Given the description of an element on the screen output the (x, y) to click on. 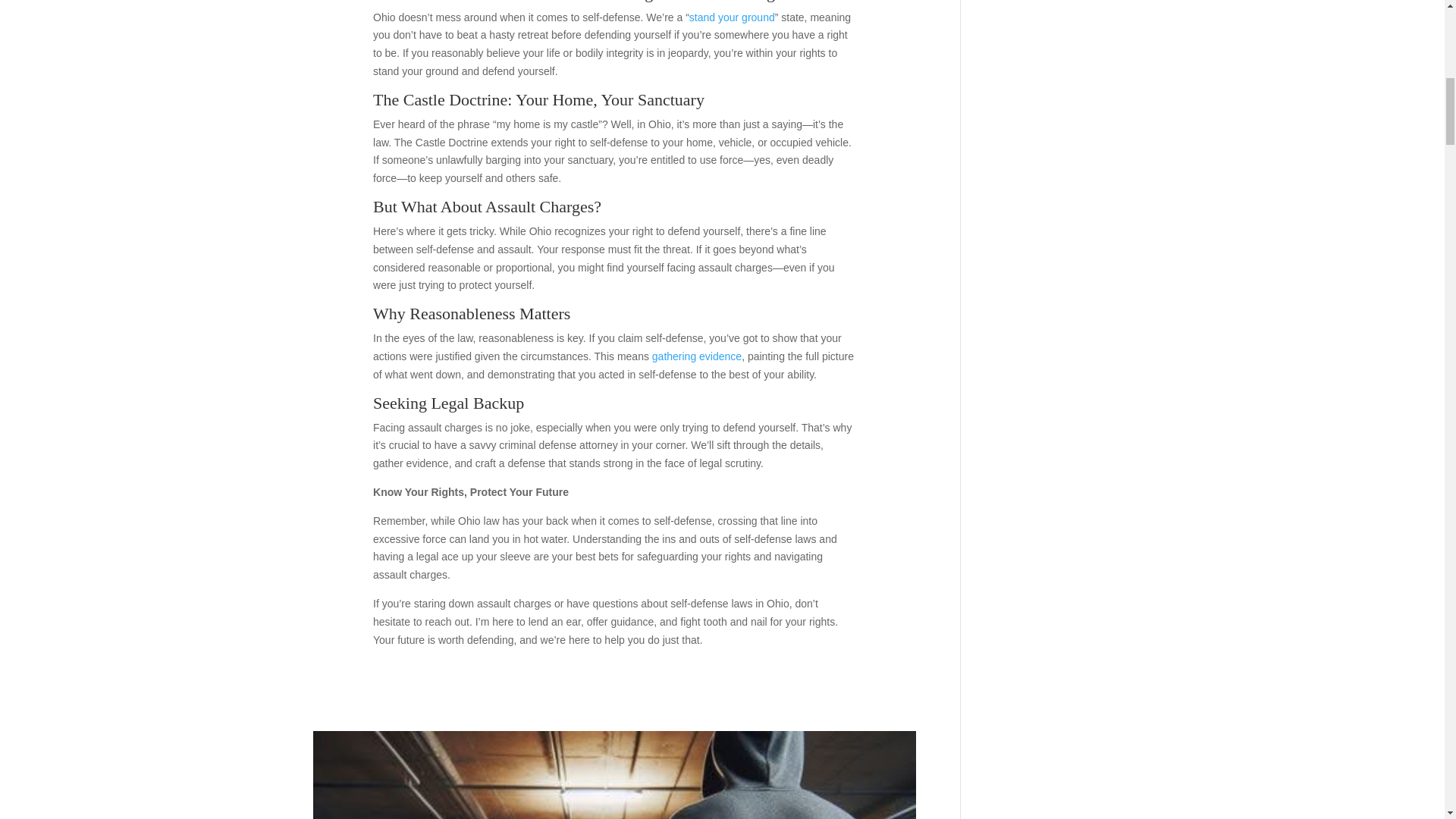
stand your ground (731, 17)
gathering evidence (696, 356)
